Given the description of an element on the screen output the (x, y) to click on. 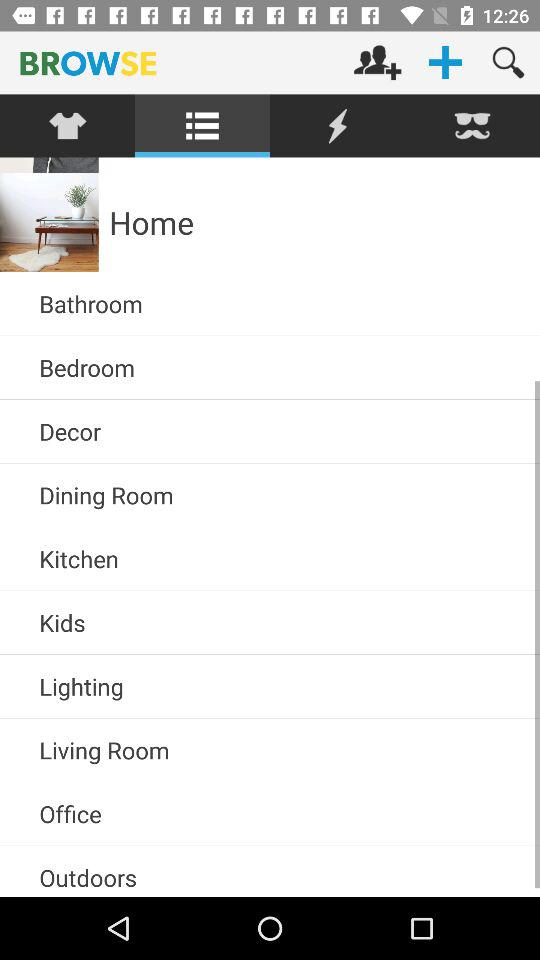
go to menu option (202, 125)
